Given the description of an element on the screen output the (x, y) to click on. 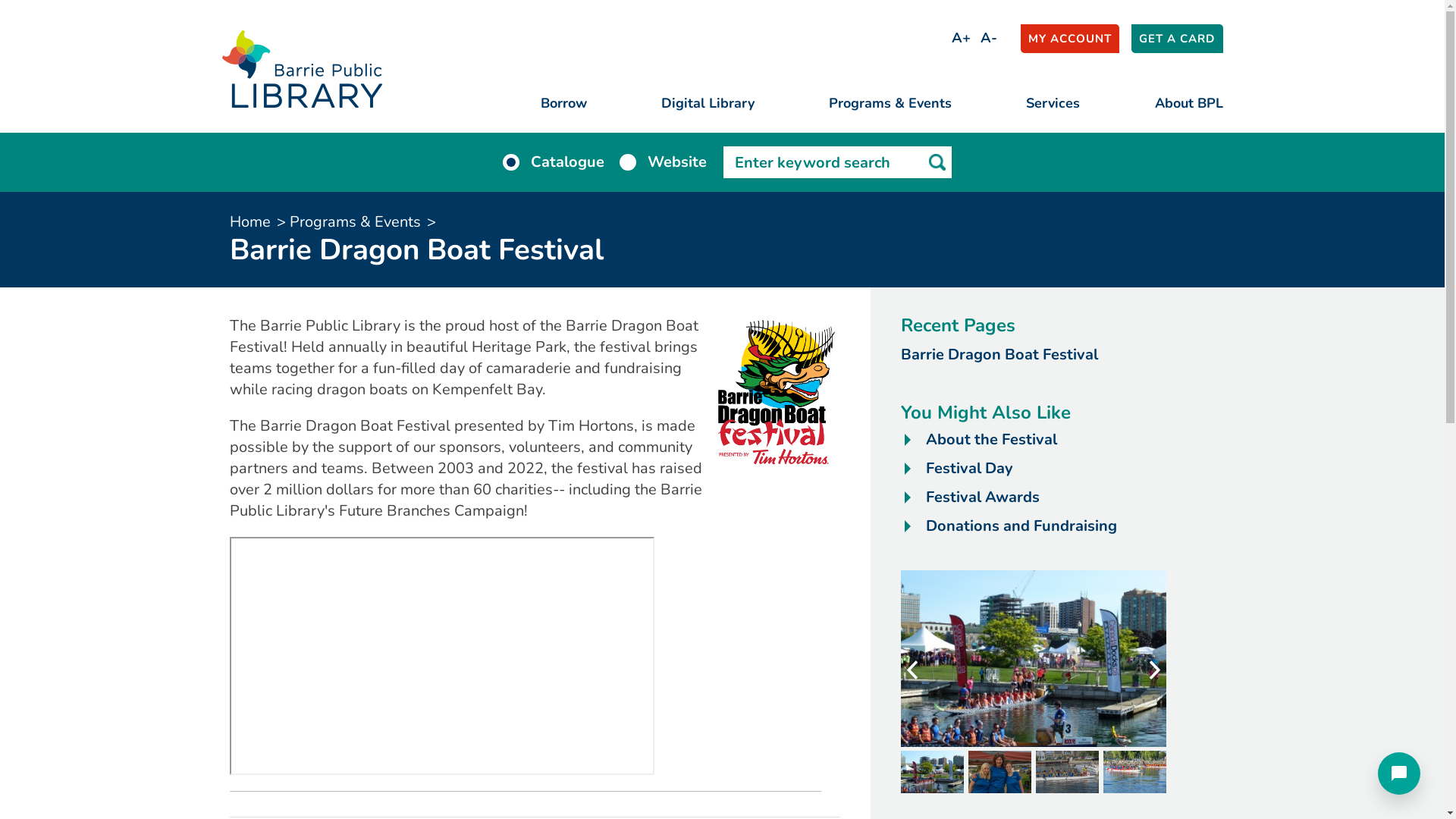
Services Element type: text (1052, 100)
A+ Element type: text (960, 37)
Festival Day Element type: text (968, 468)
GET A CARD Element type: text (1177, 38)
About the Festival Element type: text (990, 439)
About BPL Element type: text (1188, 100)
A- Element type: text (988, 37)
MY ACCOUNT Element type: text (1069, 38)
Barrie Dragon Boat Festival Element type: text (999, 354)
Donations and Fundraising Element type: text (1020, 525)
Festival Awards Element type: text (981, 496)
Home Element type: text (249, 221)
Borrow Element type: text (562, 100)
Programs & Events Element type: text (889, 100)
Programs & Events Element type: text (354, 221)
Digital Library Element type: text (707, 100)
